Given the description of an element on the screen output the (x, y) to click on. 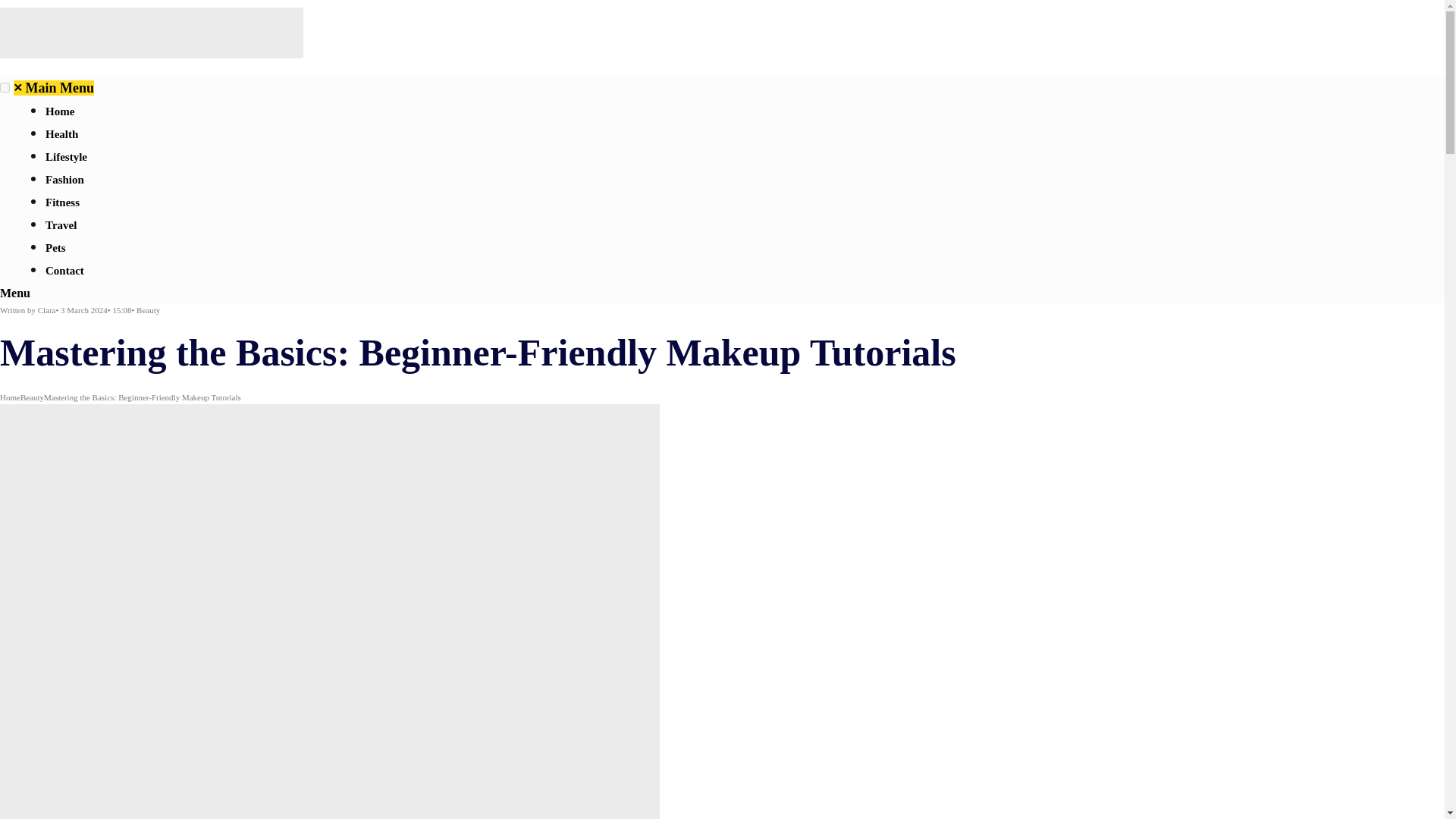
Home (59, 111)
Fitness (62, 202)
Contact (64, 270)
Health (61, 133)
Fashion (64, 179)
on (5, 87)
Clara (46, 309)
Menu (15, 292)
Posts by Clara (46, 309)
Travel (61, 224)
